Given the description of an element on the screen output the (x, y) to click on. 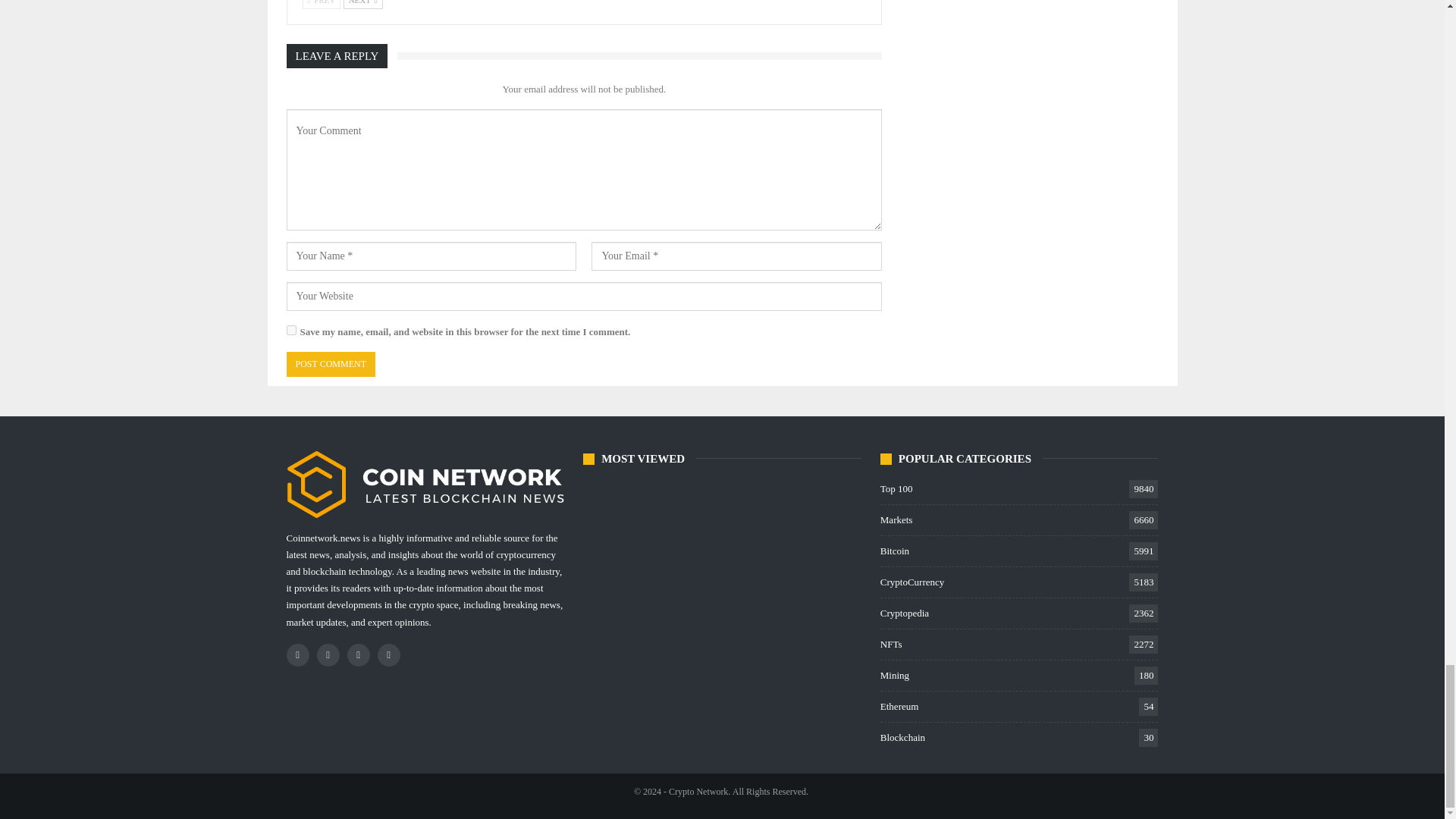
Post Comment (330, 364)
yes (291, 329)
